Given the description of an element on the screen output the (x, y) to click on. 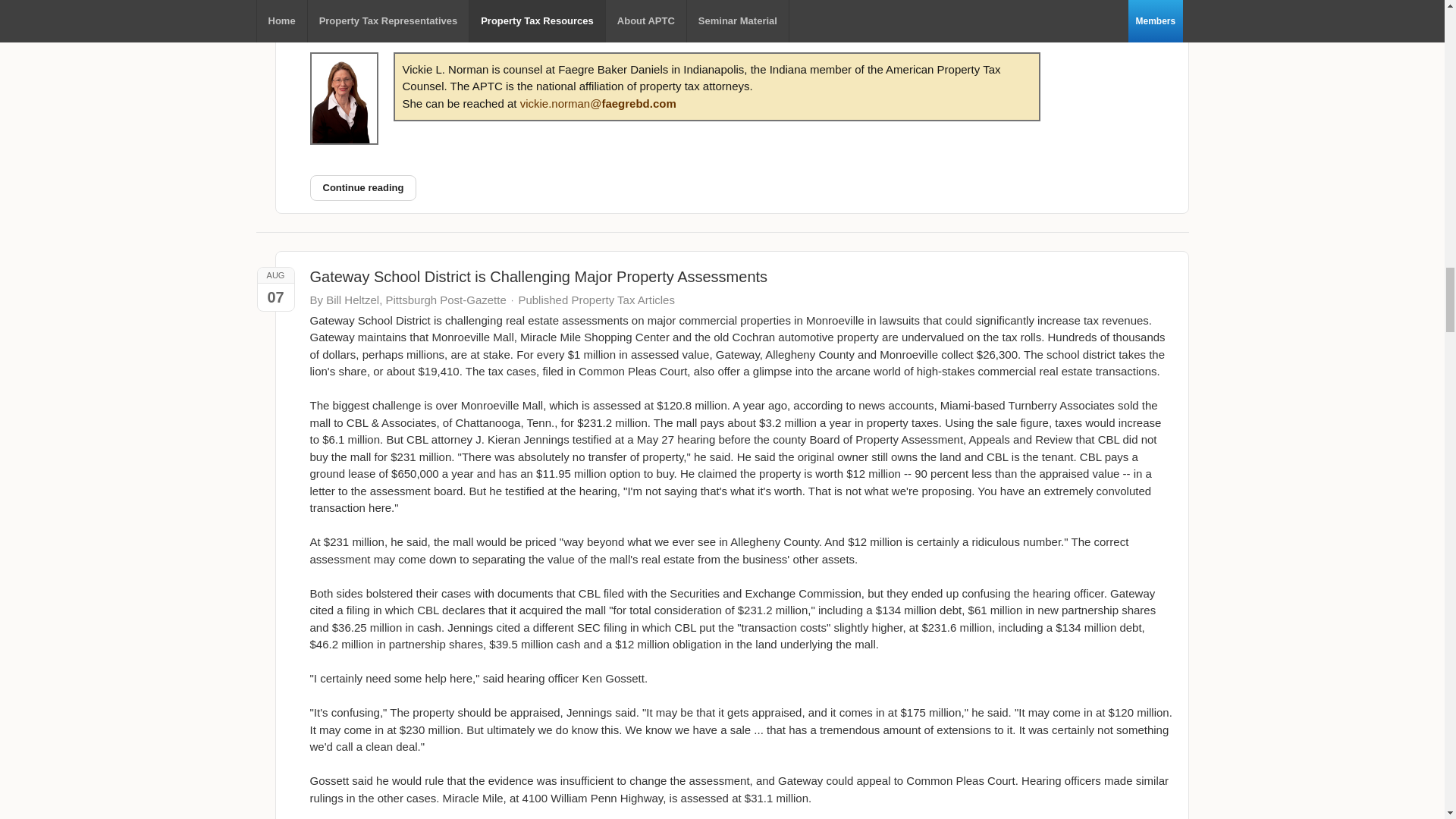
By Bill Heltzel, Pittsburgh Post-Gazette (406, 299)
Continue reading (362, 187)
Published Property Tax Articles (596, 300)
